Given the description of an element on the screen output the (x, y) to click on. 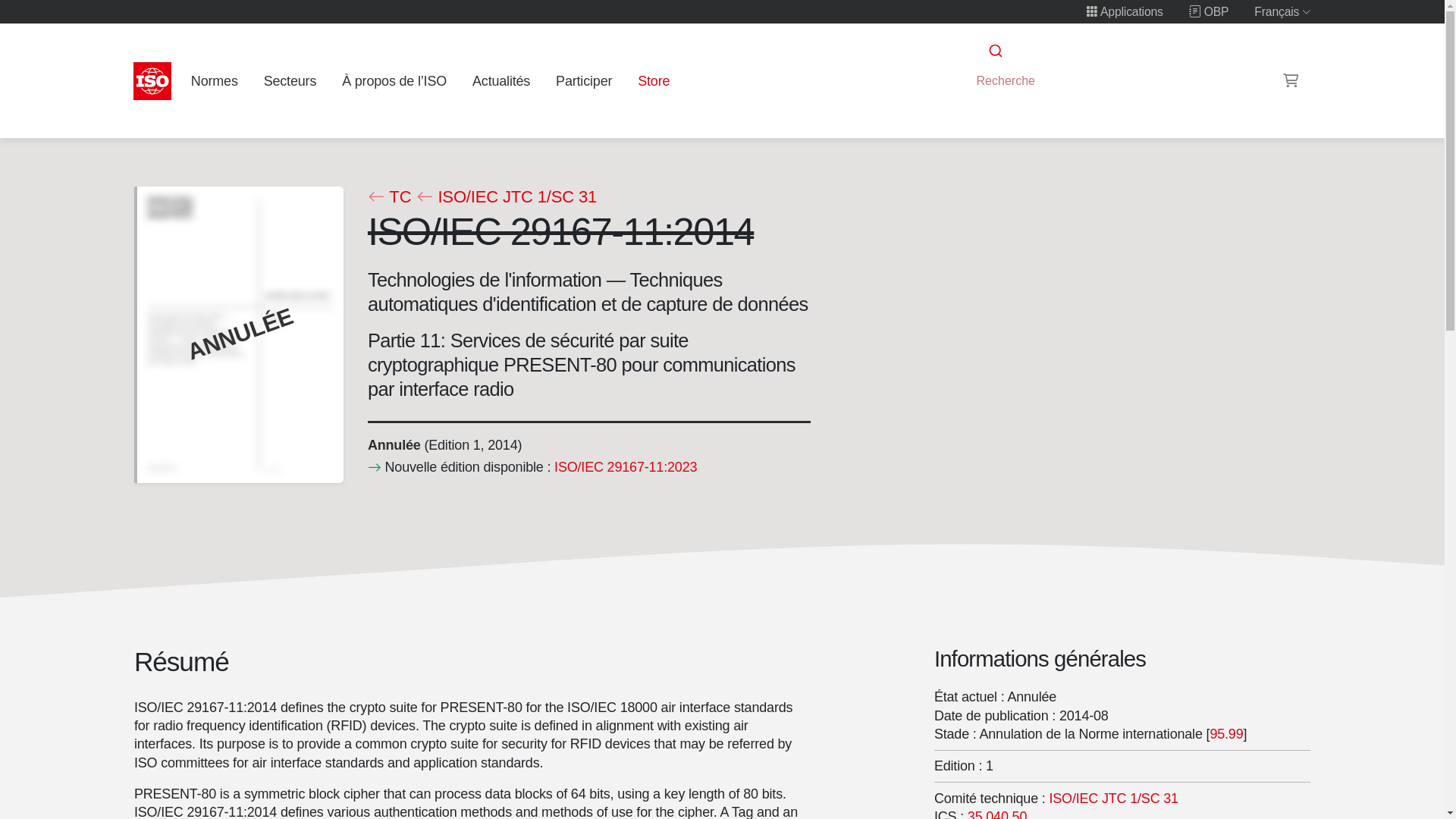
35.040.50 (997, 813)
95.99 (1226, 734)
Store (654, 80)
Secteurs (290, 80)
 Applications (1124, 11)
Submit (993, 51)
TC (388, 197)
Normes (214, 80)
Panier d'achat (1290, 80)
95.99 (1226, 734)
Plateforme de consultation en ligne (1208, 11)
Organisation internationale de normalisation (152, 80)
 OBP (1208, 11)
Participer (584, 80)
Cycle de vie (393, 444)
